Given the description of an element on the screen output the (x, y) to click on. 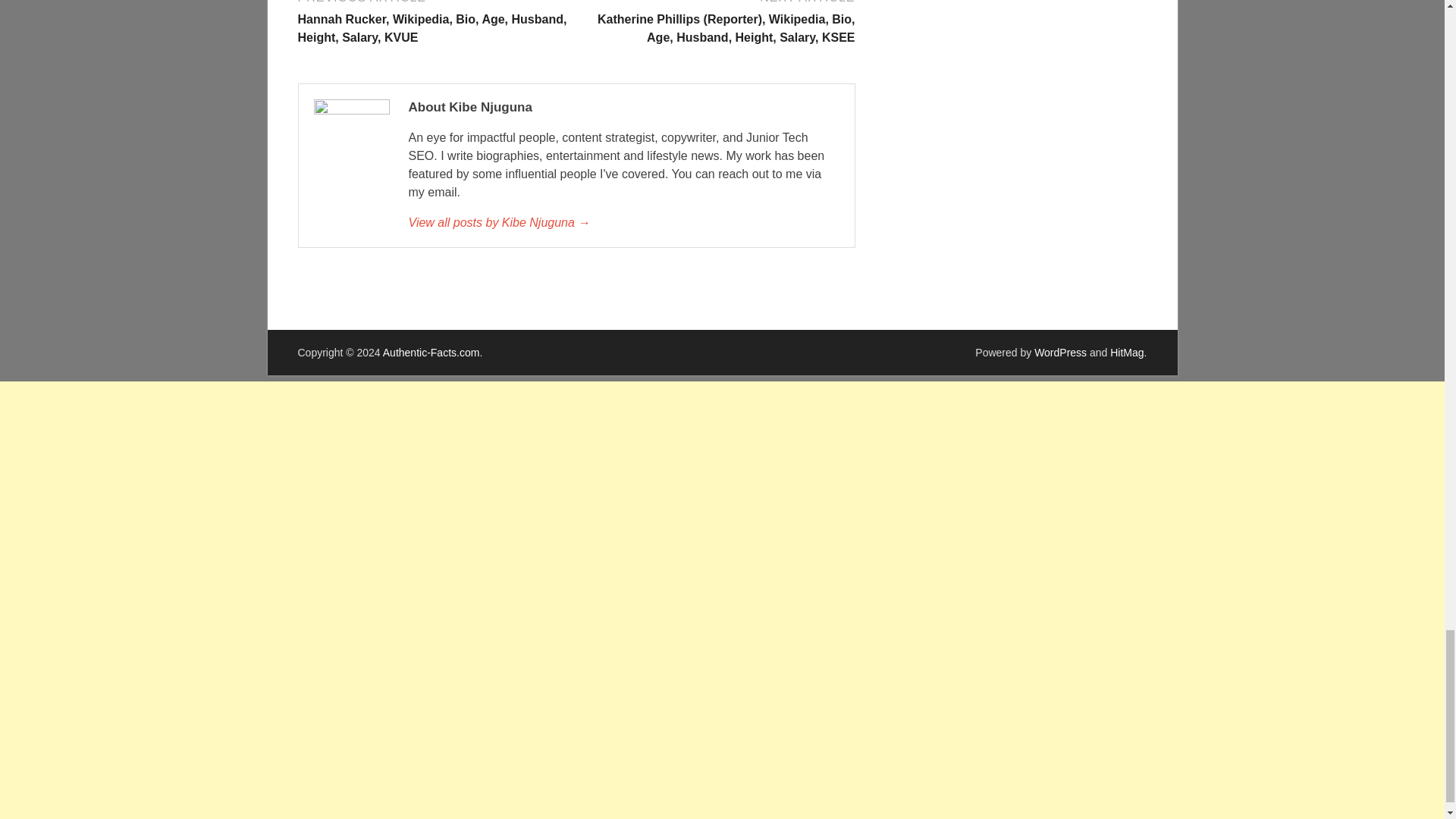
HitMag WordPress Theme (1125, 352)
Authentic-Facts.com (431, 352)
WordPress (1059, 352)
Kibe Njuguna (622, 222)
